Given the description of an element on the screen output the (x, y) to click on. 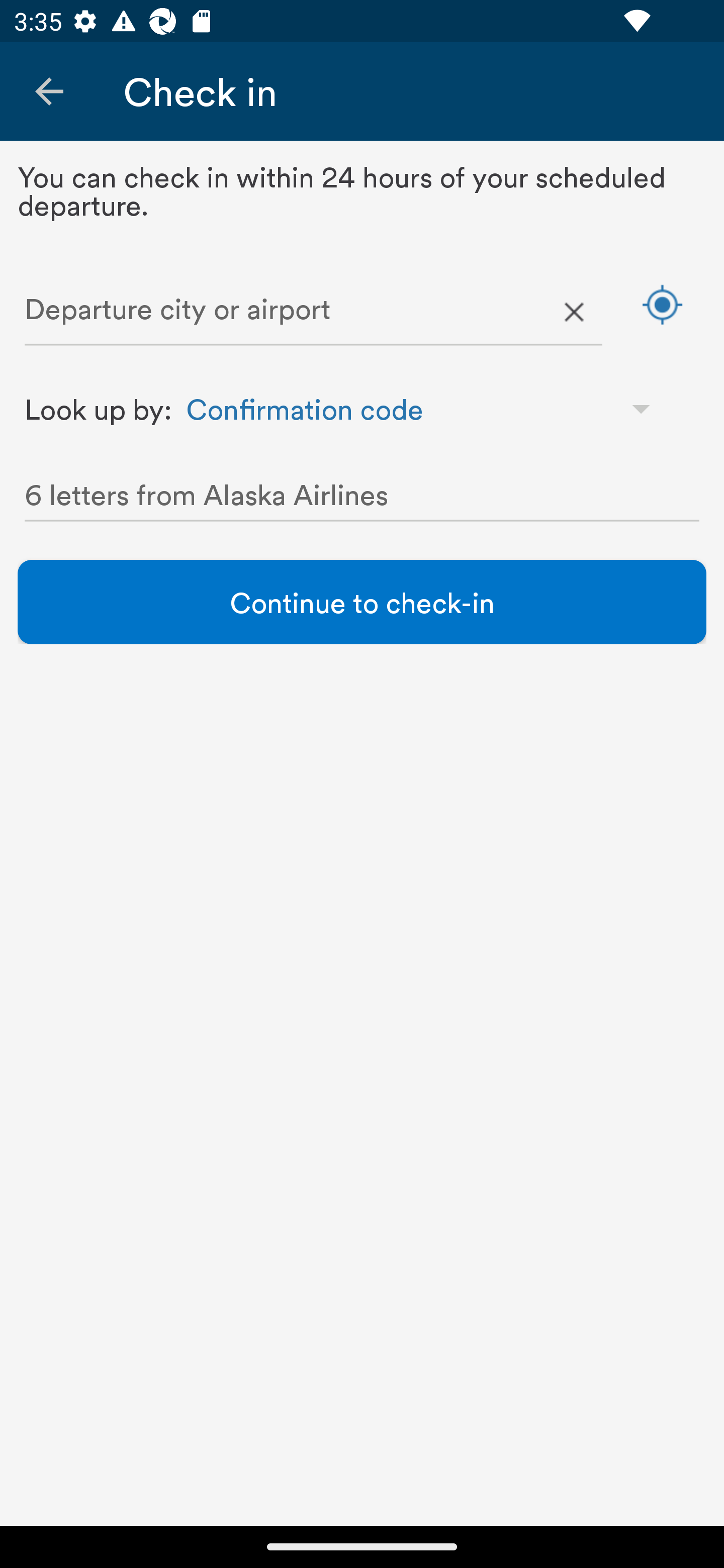
Navigate up (49, 91)
Use location (662, 304)
Departure city or airport (313, 312)
Confirmation code (427, 408)
6 letters from Alaska Airlines (361, 498)
Continue to check-in (361, 601)
